Given the description of an element on the screen output the (x, y) to click on. 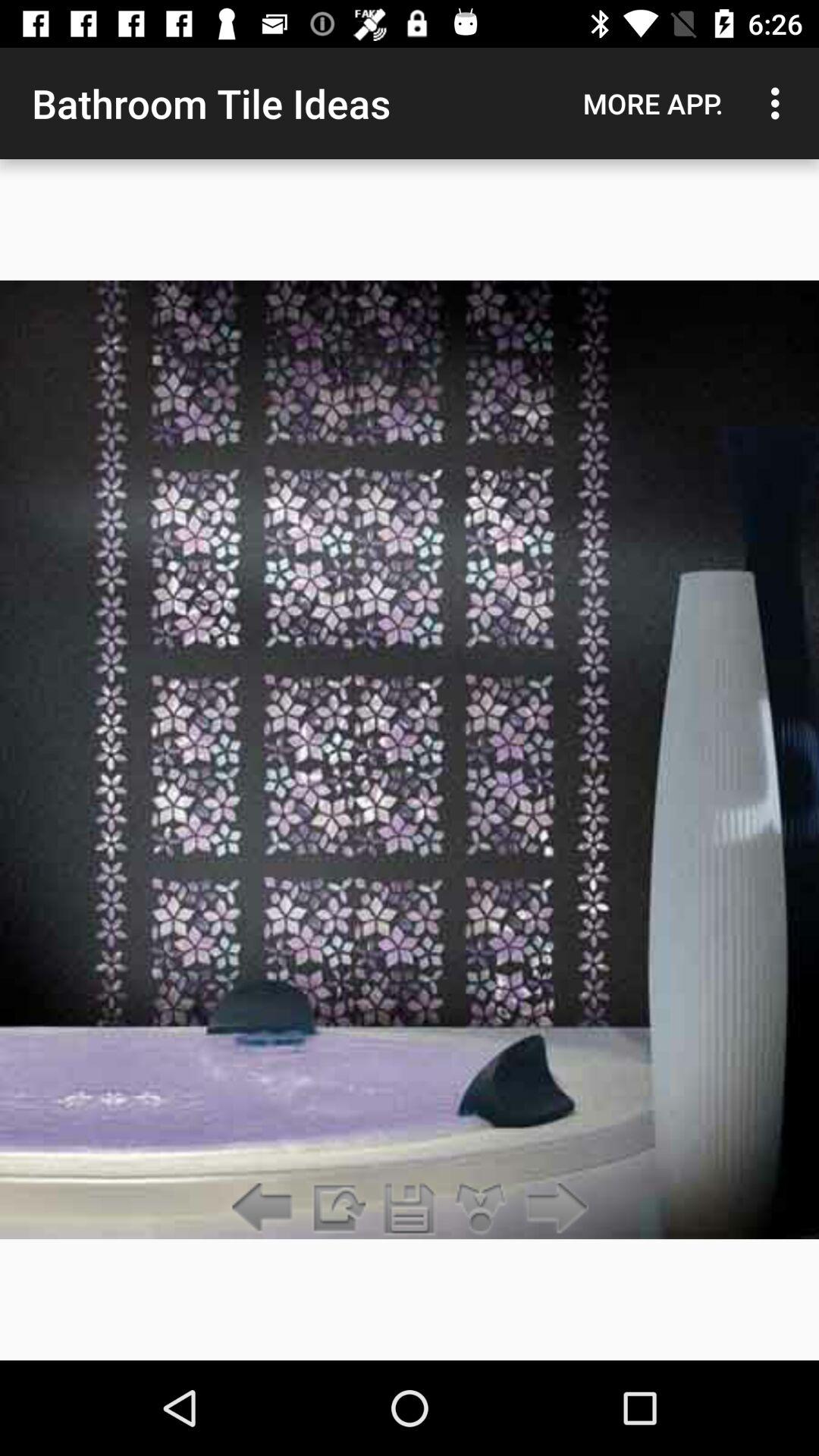
press the item below the bathroom tile ideas app (337, 1208)
